Given the description of an element on the screen output the (x, y) to click on. 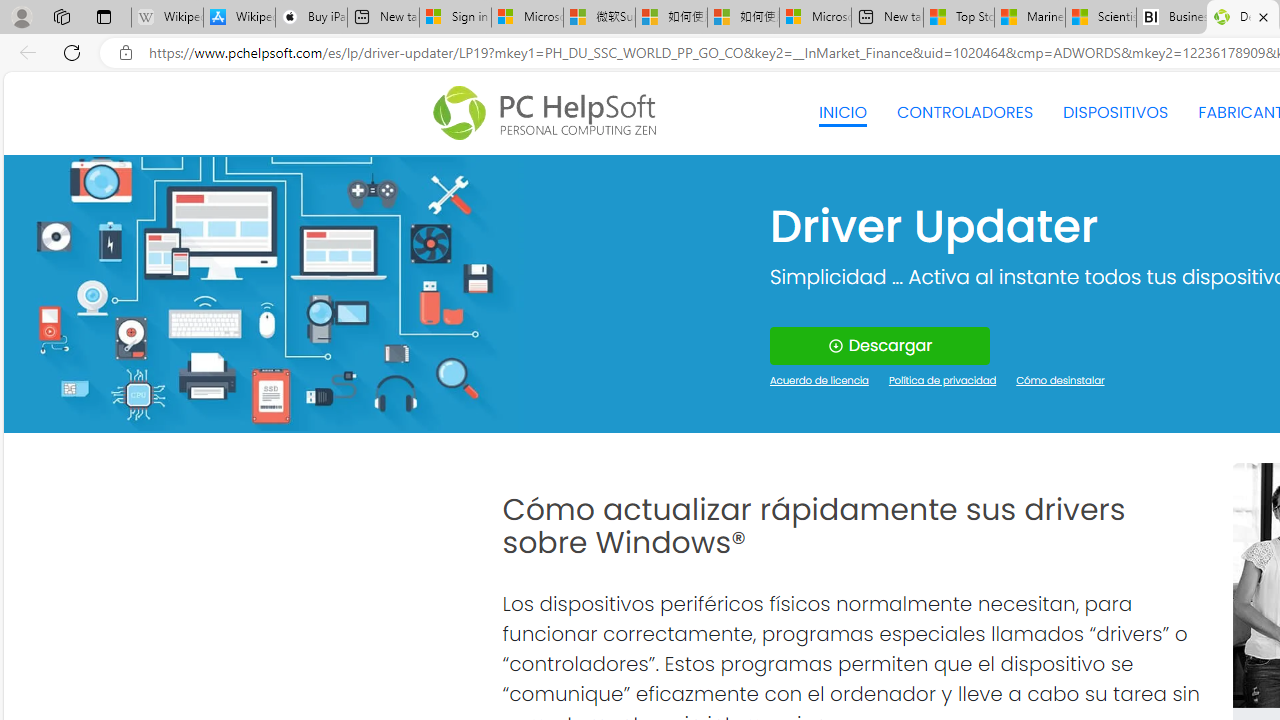
Acuerdo de licencia (819, 381)
Generic (263, 293)
CONTROLADORES (965, 112)
Logo Personal Computing (550, 113)
INICIO (842, 112)
DISPOSITIVOS (1115, 112)
